Given the description of an element on the screen output the (x, y) to click on. 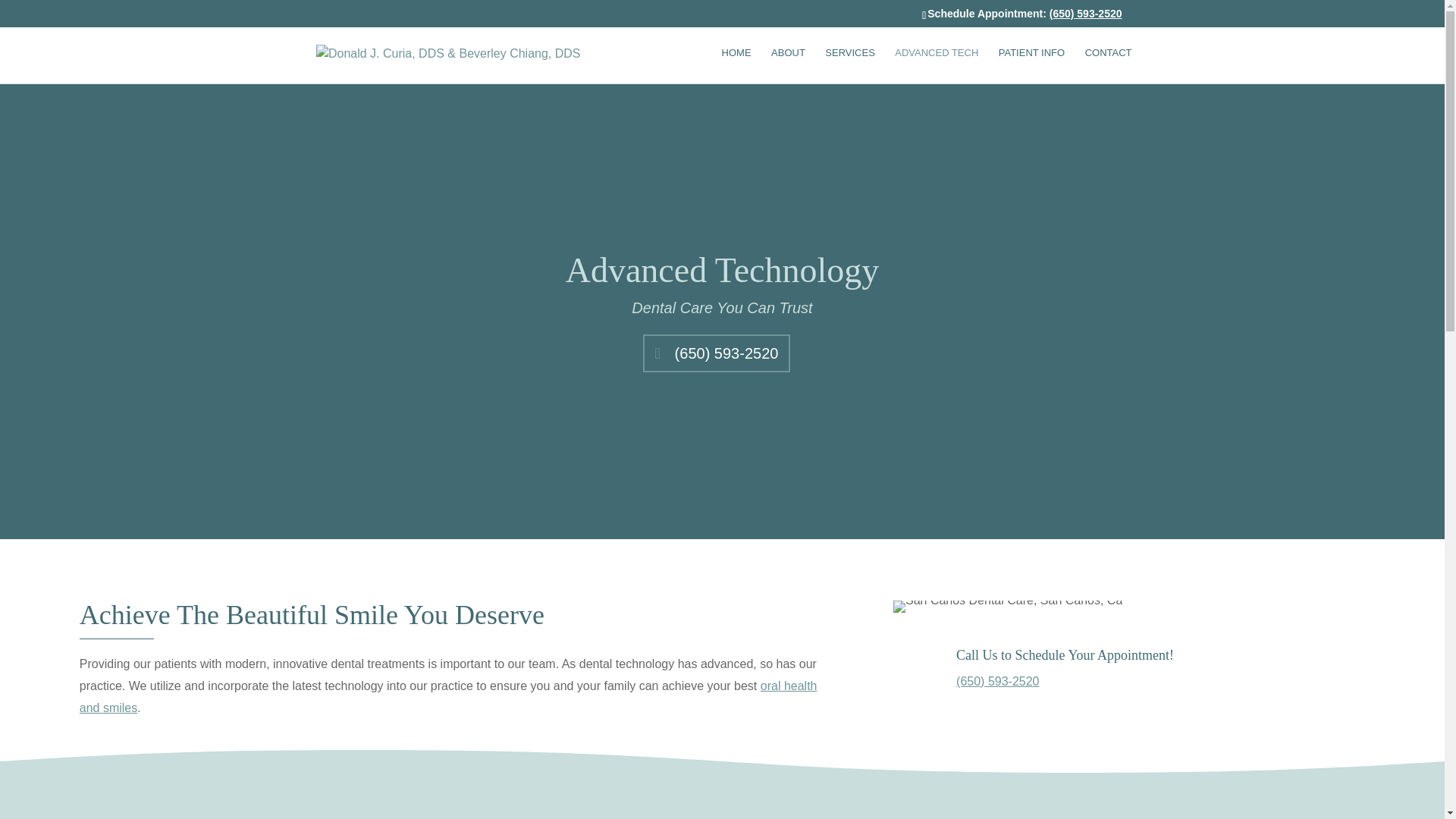
oral health and smiles (448, 696)
SERVICES (850, 65)
CONTACT (1108, 65)
ABOUT (788, 65)
ADVANCED TECH (936, 65)
PATIENT INFO (1031, 65)
